Given the description of an element on the screen output the (x, y) to click on. 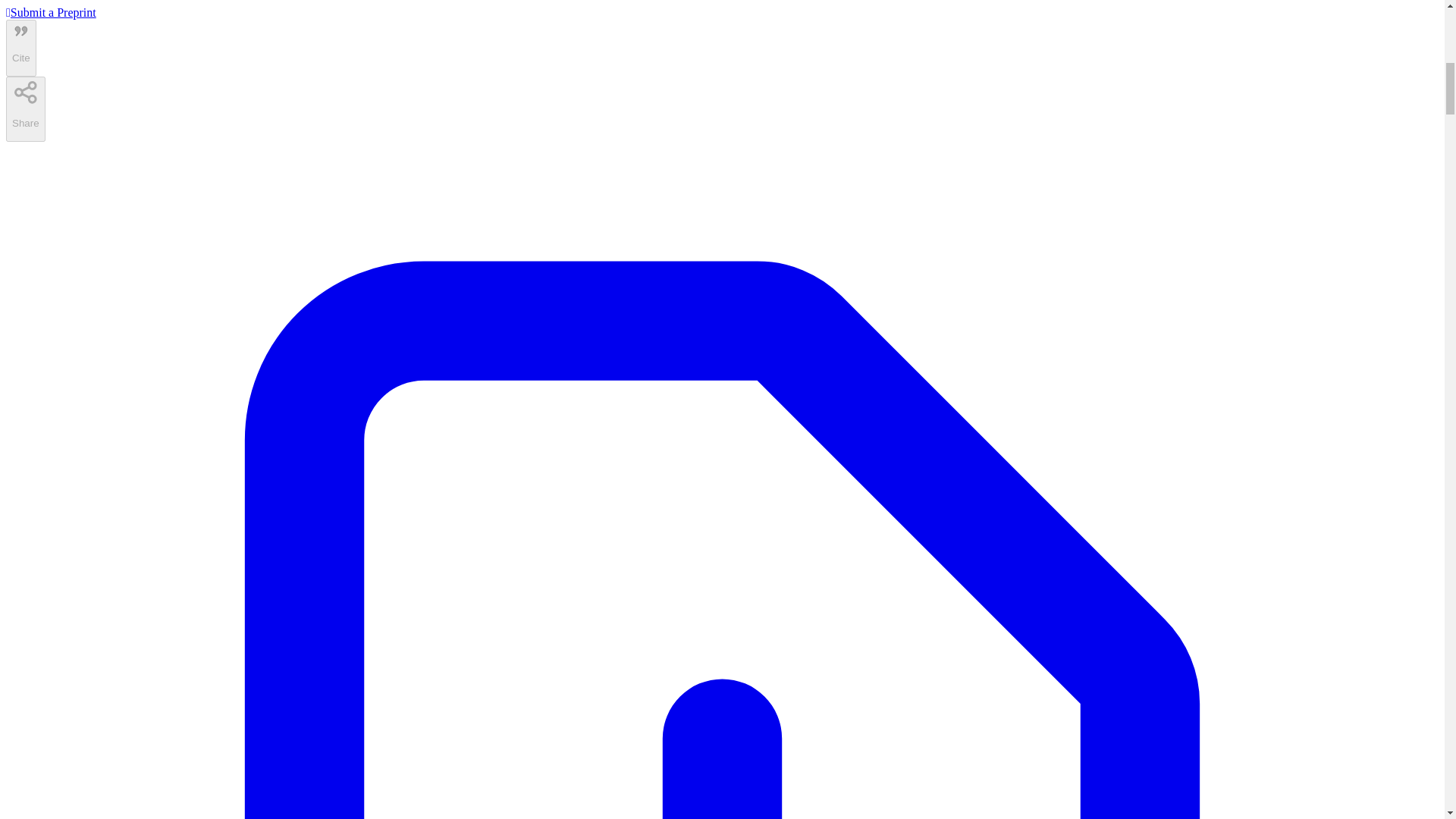
Share (25, 108)
Submit a Preprint (50, 11)
Cite (20, 47)
